Given the description of an element on the screen output the (x, y) to click on. 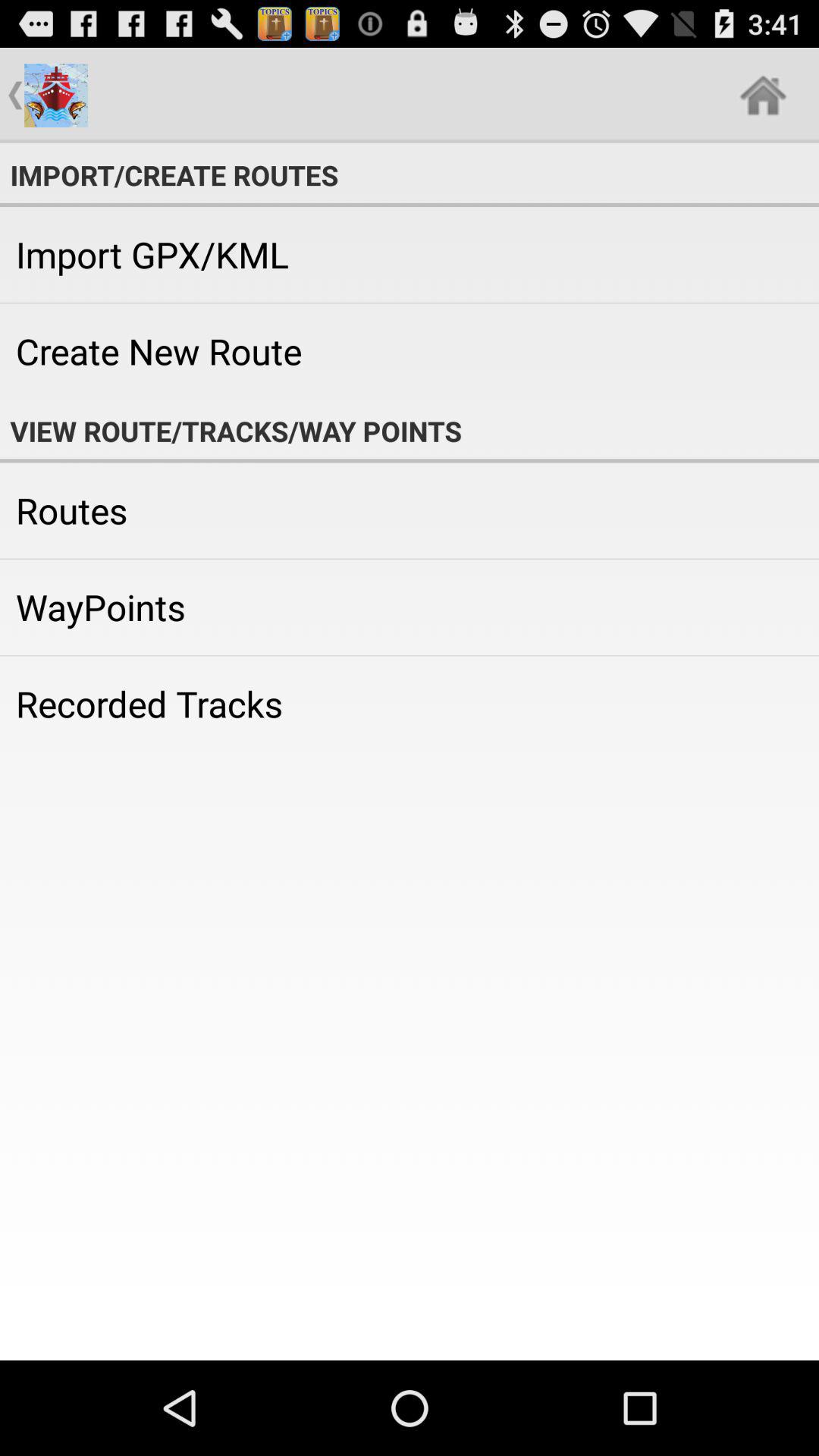
jump to the create new route icon (409, 351)
